Given the description of an element on the screen output the (x, y) to click on. 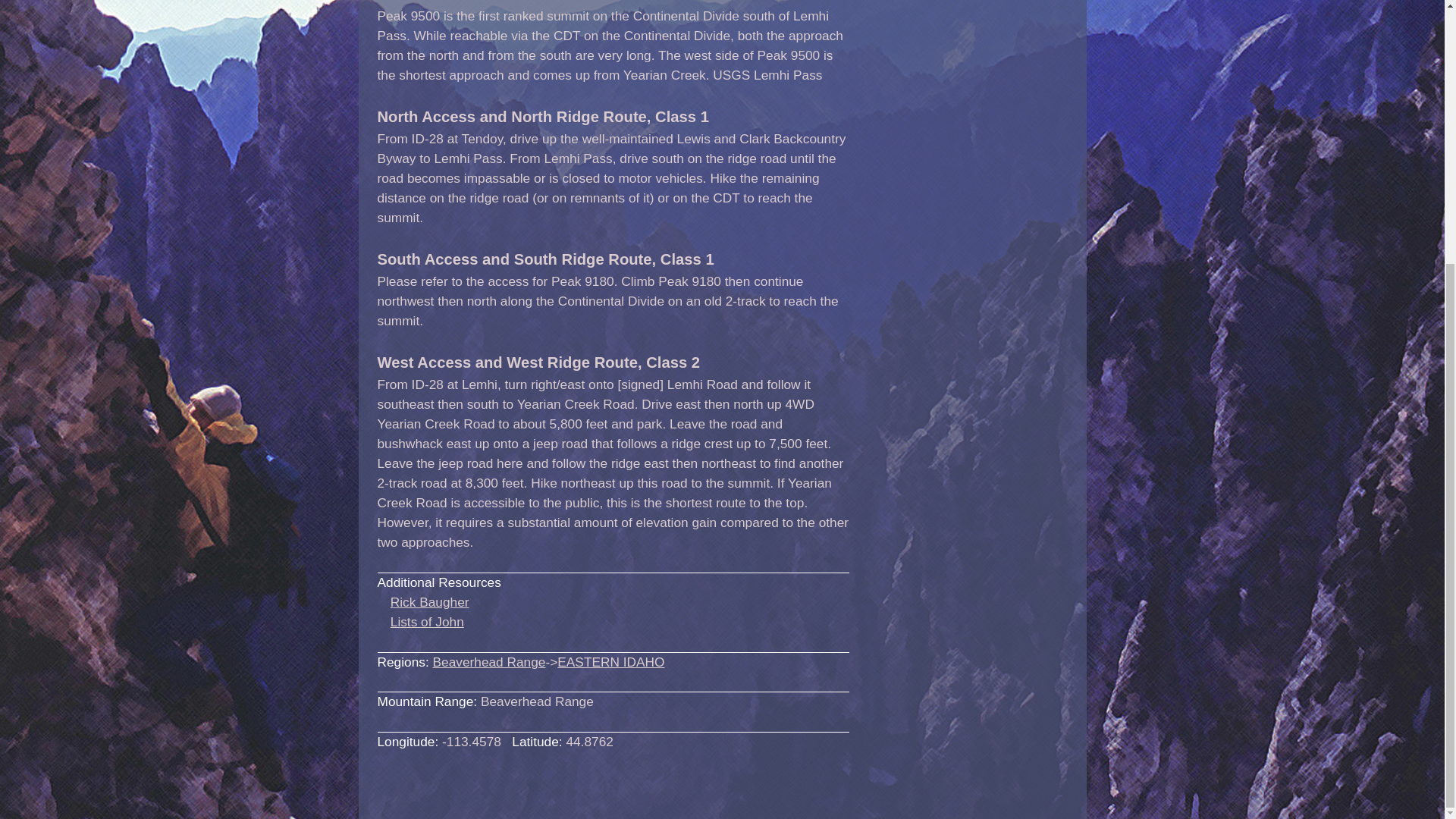
Beaverhead Range (489, 661)
Lists of John (427, 621)
EASTERN IDAHO (610, 661)
Rick Baugher (429, 601)
